Given the description of an element on the screen output the (x, y) to click on. 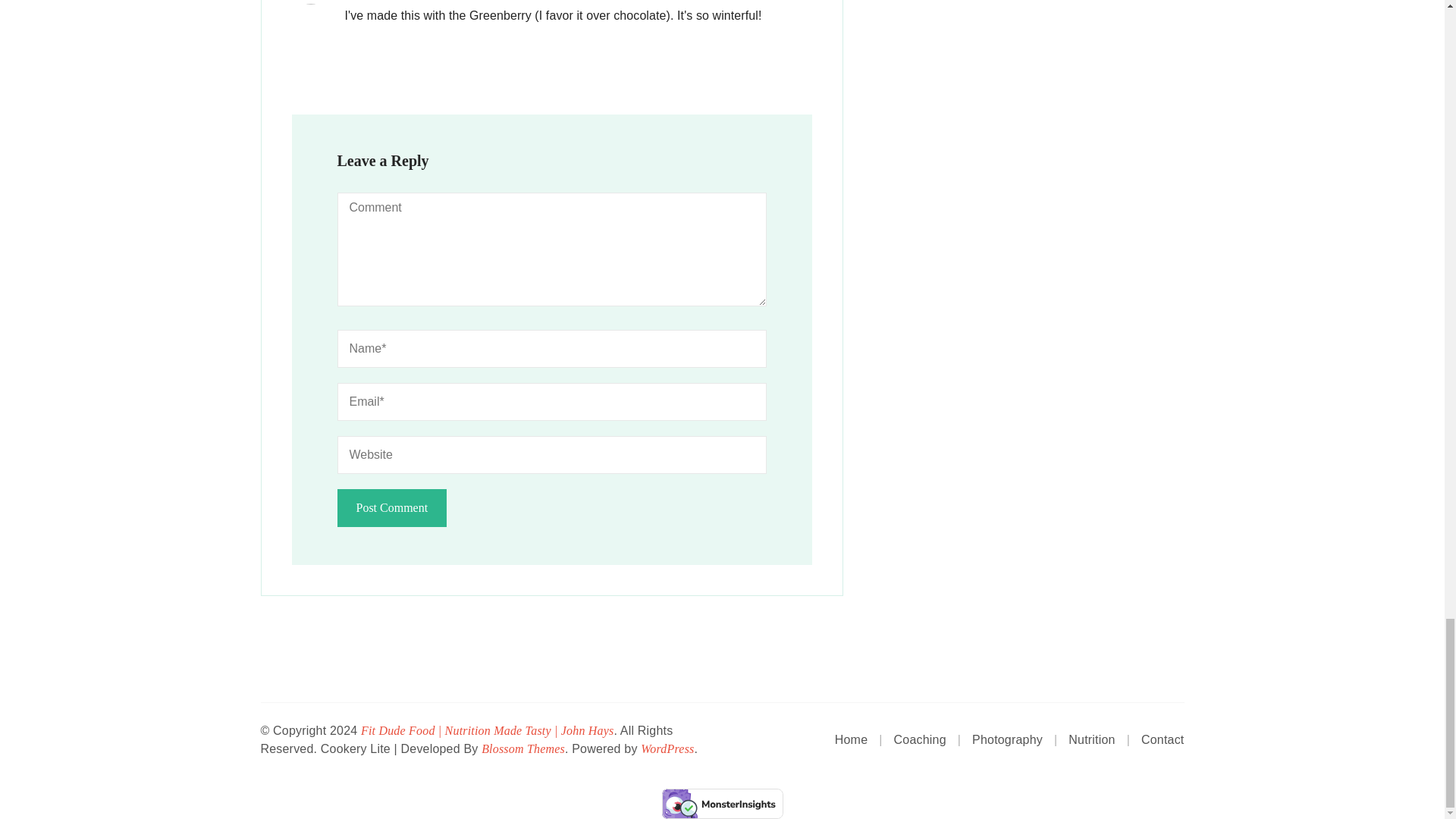
Post Comment (391, 507)
